Given the description of an element on the screen output the (x, y) to click on. 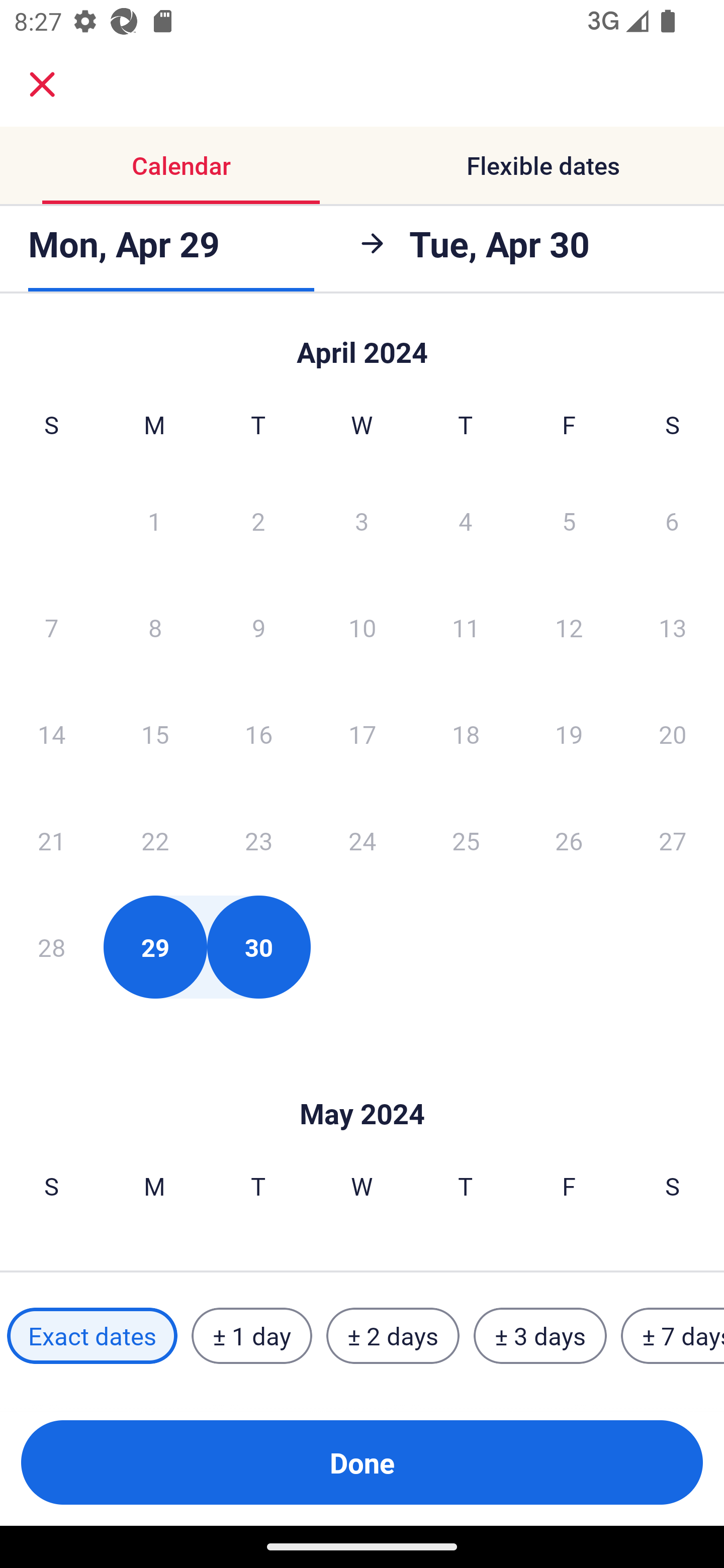
close. (42, 84)
Flexible dates (542, 164)
Skip to Done (362, 343)
1 Monday, April 1, 2024 (154, 520)
2 Tuesday, April 2, 2024 (257, 520)
3 Wednesday, April 3, 2024 (361, 520)
4 Thursday, April 4, 2024 (465, 520)
5 Friday, April 5, 2024 (568, 520)
6 Saturday, April 6, 2024 (672, 520)
7 Sunday, April 7, 2024 (51, 626)
8 Monday, April 8, 2024 (155, 626)
9 Tuesday, April 9, 2024 (258, 626)
10 Wednesday, April 10, 2024 (362, 626)
11 Thursday, April 11, 2024 (465, 626)
12 Friday, April 12, 2024 (569, 626)
13 Saturday, April 13, 2024 (672, 626)
14 Sunday, April 14, 2024 (51, 733)
15 Monday, April 15, 2024 (155, 733)
16 Tuesday, April 16, 2024 (258, 733)
17 Wednesday, April 17, 2024 (362, 733)
18 Thursday, April 18, 2024 (465, 733)
19 Friday, April 19, 2024 (569, 733)
20 Saturday, April 20, 2024 (672, 733)
21 Sunday, April 21, 2024 (51, 840)
22 Monday, April 22, 2024 (155, 840)
23 Tuesday, April 23, 2024 (258, 840)
24 Wednesday, April 24, 2024 (362, 840)
25 Thursday, April 25, 2024 (465, 840)
26 Friday, April 26, 2024 (569, 840)
27 Saturday, April 27, 2024 (672, 840)
28 Sunday, April 28, 2024 (51, 946)
Skip to Done (362, 1083)
Exact dates (92, 1335)
± 1 day (251, 1335)
± 2 days (392, 1335)
± 3 days (539, 1335)
± 7 days (672, 1335)
Done (361, 1462)
